Given the description of an element on the screen output the (x, y) to click on. 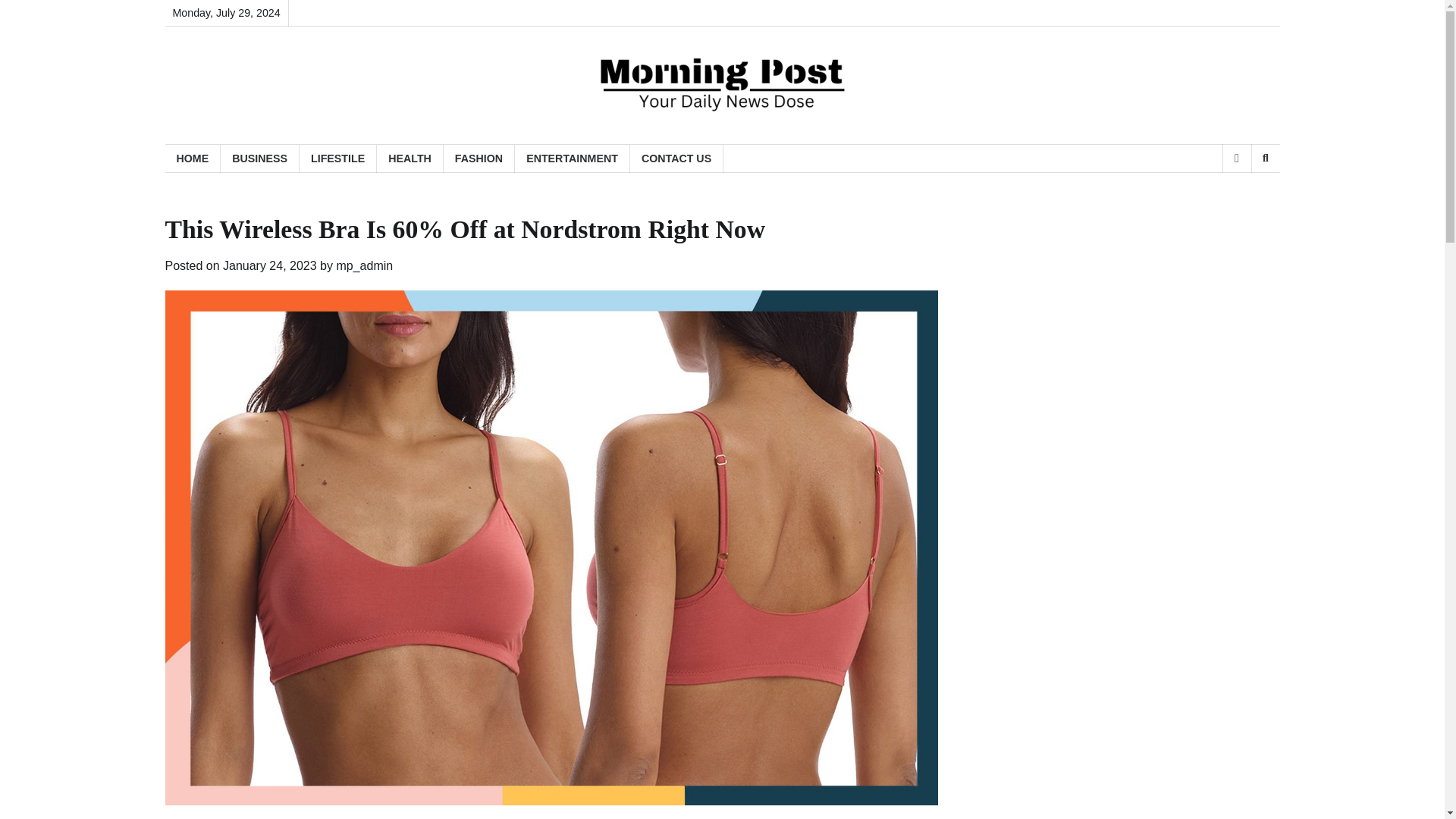
Search (1264, 158)
January 24, 2023 (269, 265)
BUSINESS (260, 158)
ENTERTAINMENT (572, 158)
LIFESTILE (338, 158)
CONTACT US (676, 158)
View Random Post (1236, 158)
HEALTH (410, 158)
FASHION (479, 158)
HOME (193, 158)
Search (1240, 197)
